Given the description of an element on the screen output the (x, y) to click on. 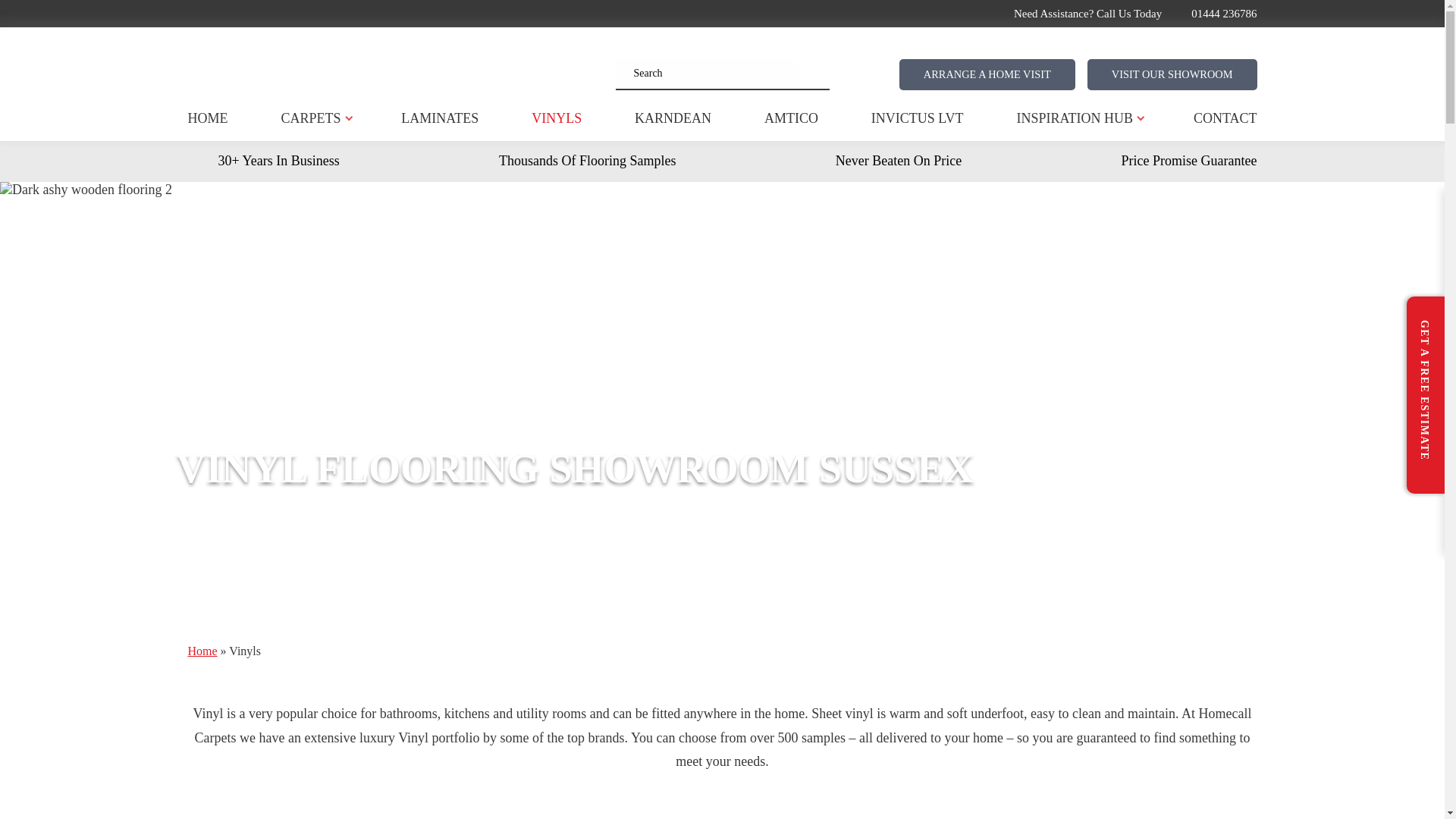
VISIT OUR SHOWROOM (1172, 74)
CARPETS (310, 118)
ARRANGE A HOME VISIT (987, 74)
HOME (207, 118)
Homecall Carpets (401, 64)
LAMINATES (440, 118)
Search (707, 73)
Search for a product (814, 73)
INVICTUS LVT (916, 118)
VINYLS (555, 118)
